Given the description of an element on the screen output the (x, y) to click on. 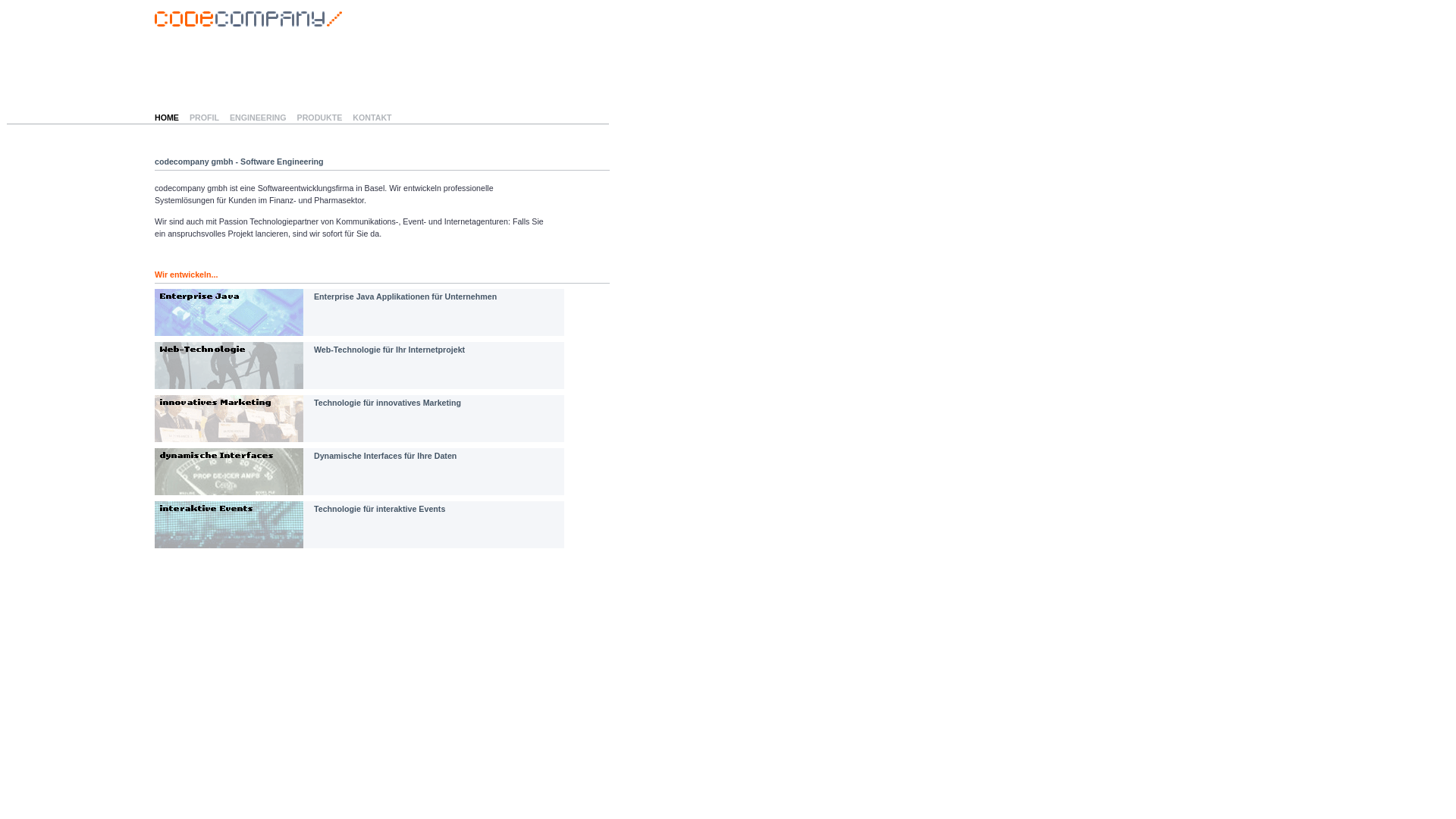
ENGINEERING Element type: text (257, 117)
KONTAKT Element type: text (371, 117)
PROFIL Element type: text (204, 117)
PRODUKTE Element type: text (319, 117)
HOME Element type: text (166, 117)
